Given the description of an element on the screen output the (x, y) to click on. 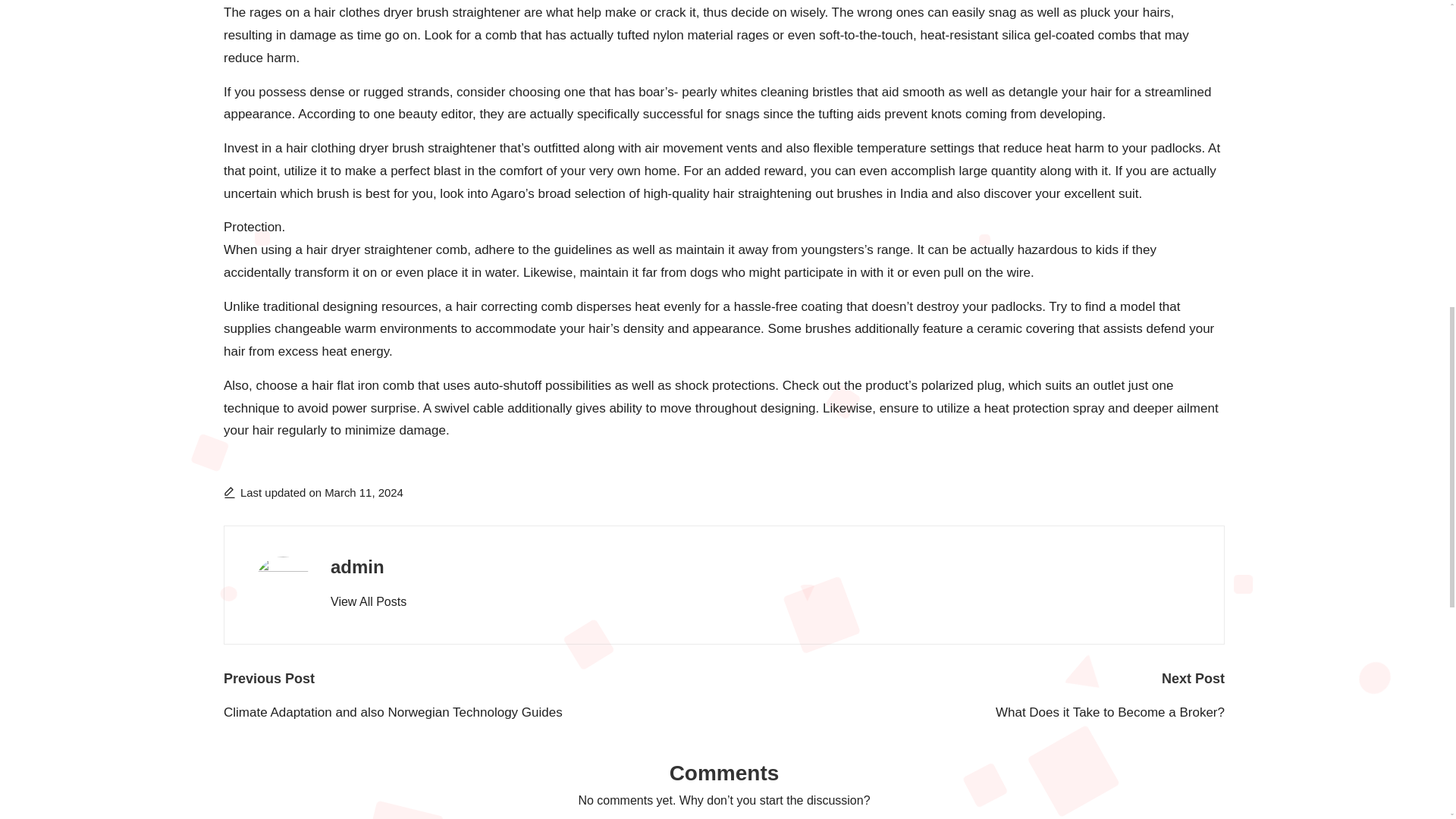
Climate Adaptation and also Norwegian Technology Guides (473, 712)
What Does it Take to Become a Broker? (973, 712)
View All Posts (368, 601)
admin (357, 566)
